Given the description of an element on the screen output the (x, y) to click on. 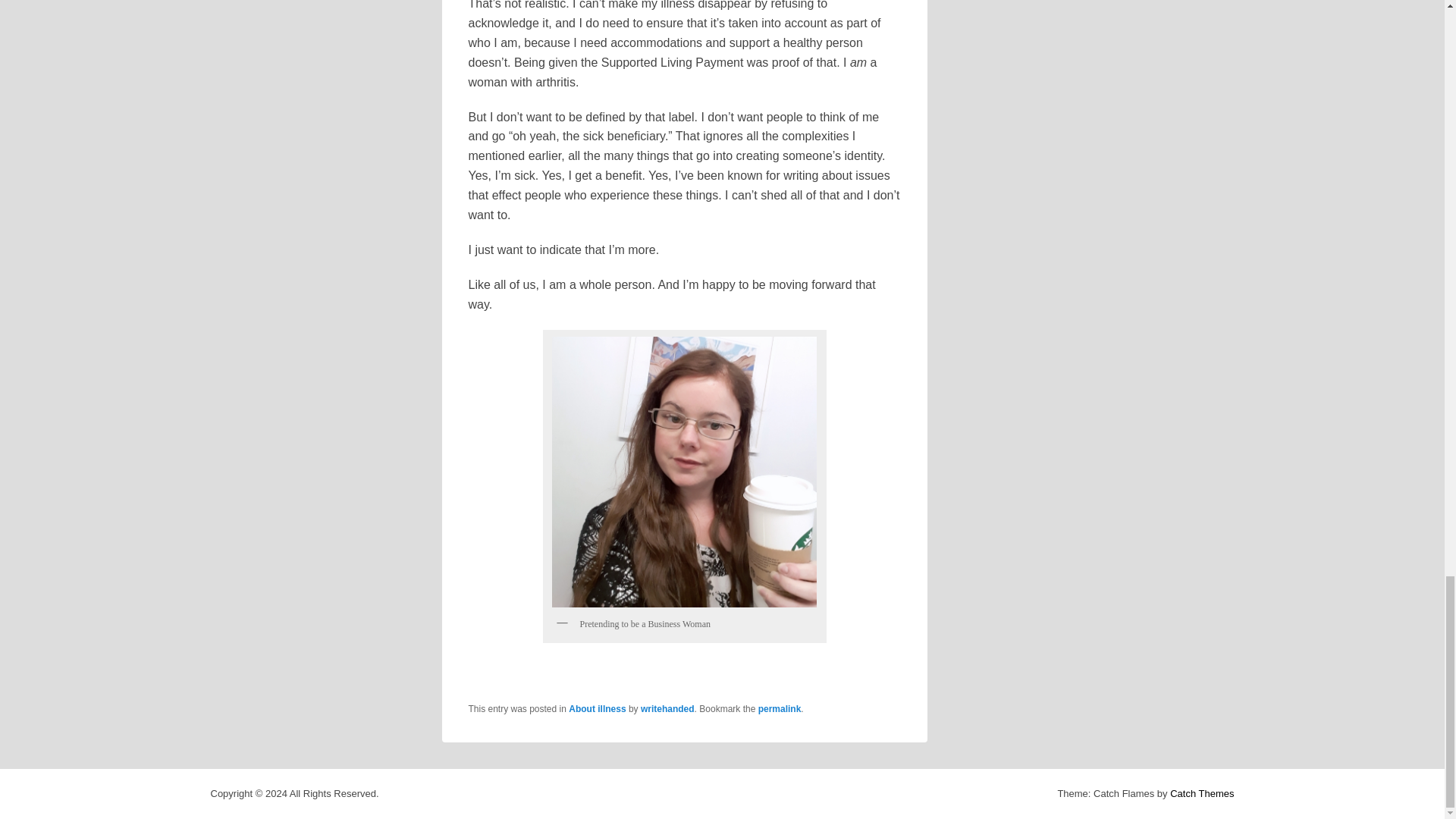
permalink (780, 708)
Permalink to On being a whole person (780, 708)
writehanded (667, 708)
Catch Themes (1201, 793)
Catch Themes (1201, 793)
About illness (597, 708)
